Given the description of an element on the screen output the (x, y) to click on. 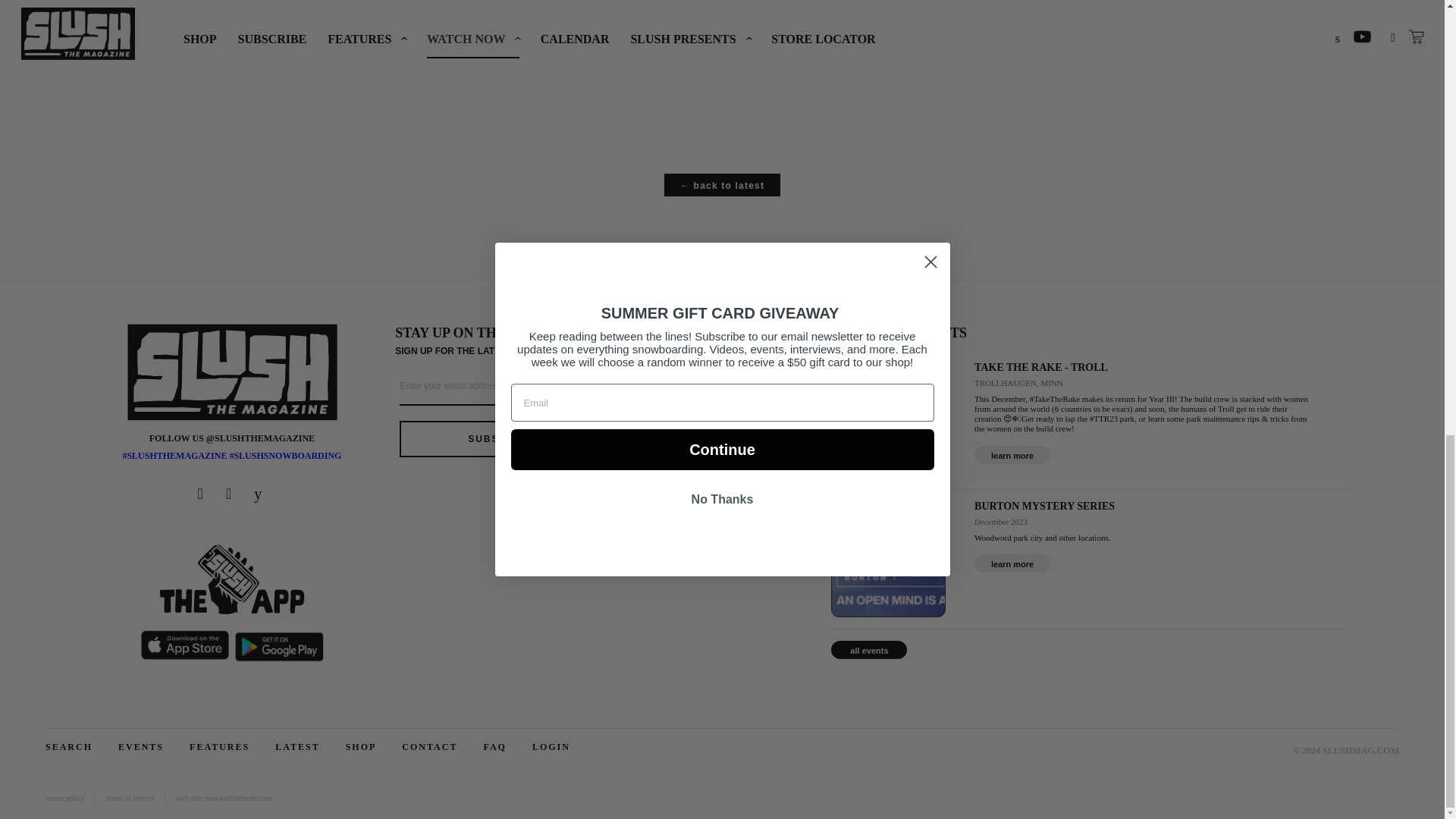
Slush Magazine on Facebook (202, 494)
Tweet on Twitter (518, 43)
Pin on Pinterest (569, 43)
Slush Magazine on YouTube (259, 494)
Slush Magazine on Instagram (230, 494)
Share on Facebook (465, 43)
Events links (1011, 563)
Events links (1011, 454)
